Given the description of an element on the screen output the (x, y) to click on. 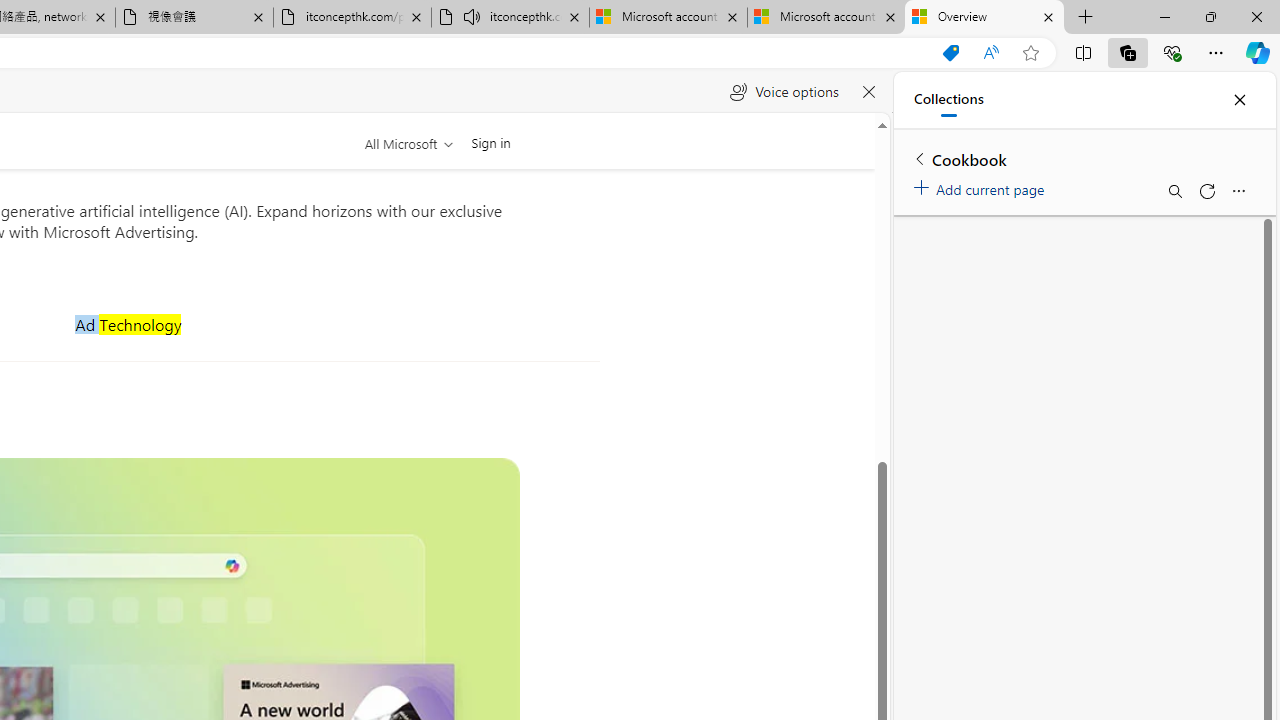
Voice options (783, 92)
More options menu (1238, 190)
Shopping in Microsoft Edge (950, 53)
